Given the description of an element on the screen output the (x, y) to click on. 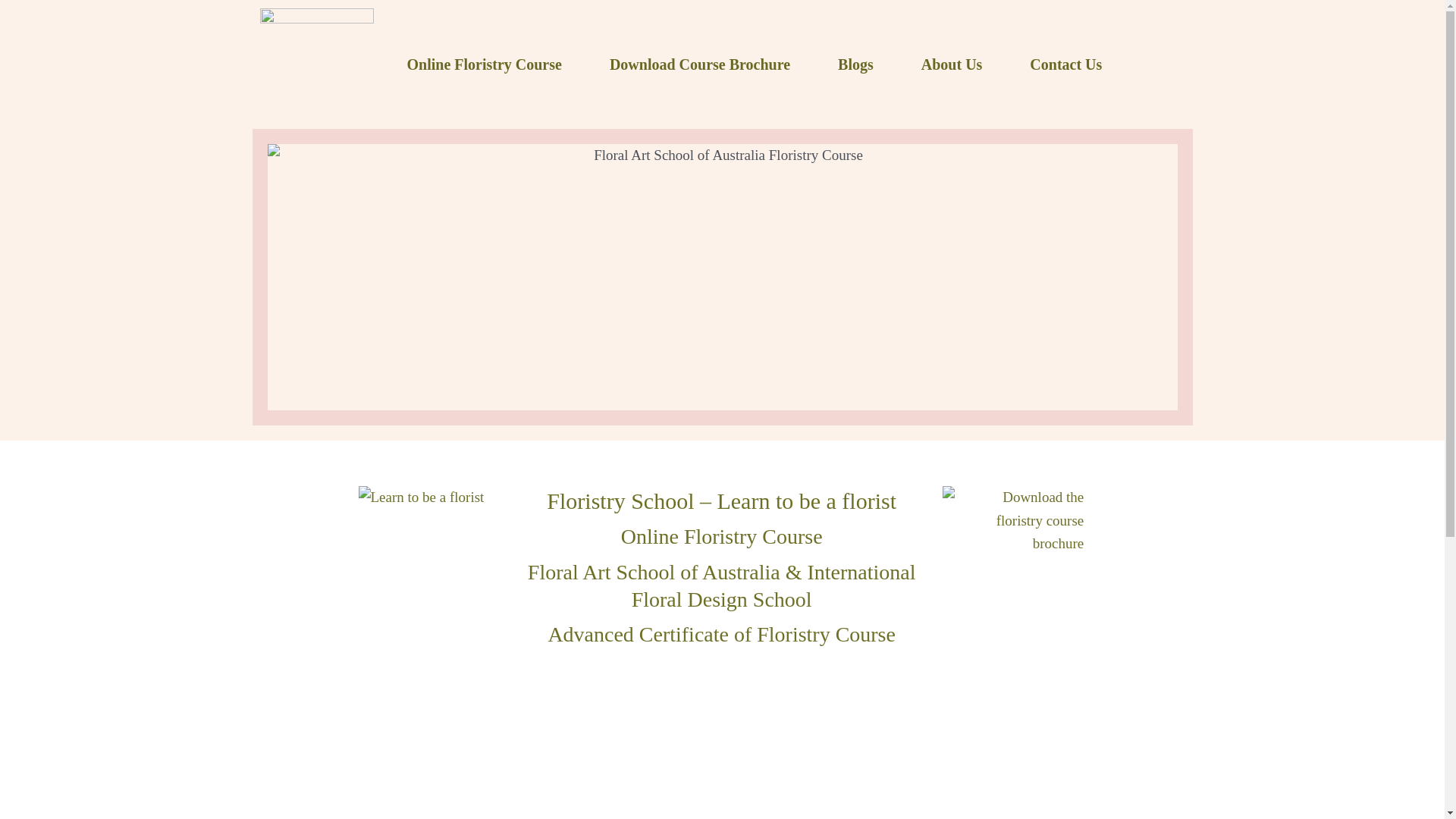
Download Course Brochure (699, 63)
Online Floristry Course (483, 63)
Blogs (855, 63)
Contact Us (1065, 63)
About Us (952, 63)
